Given the description of an element on the screen output the (x, y) to click on. 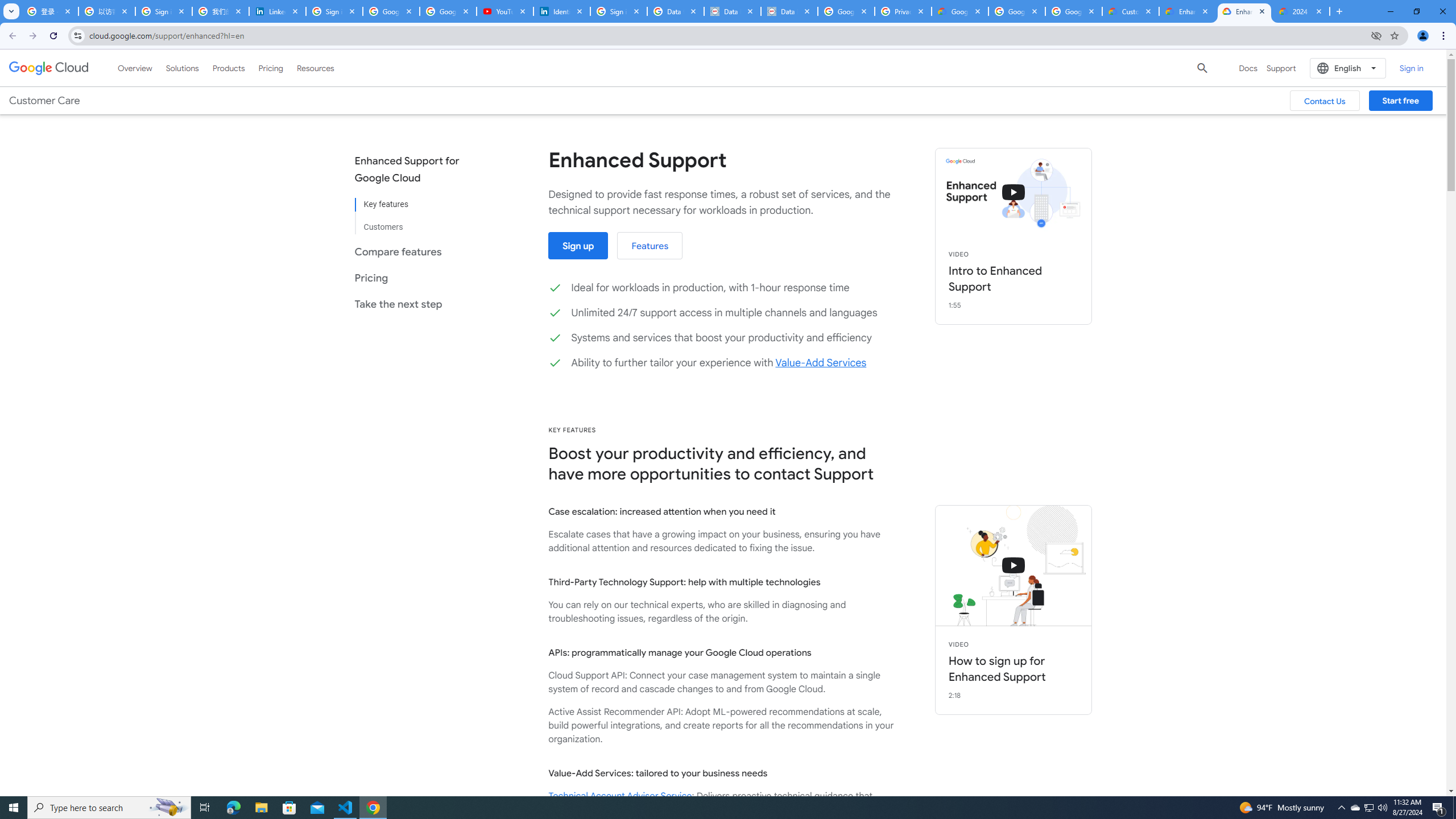
Value-Add Services (820, 362)
Key features (414, 204)
Sign in - Google Accounts (163, 11)
Features (649, 245)
LinkedIn Privacy Policy (277, 11)
Solutions (181, 67)
Technical Account Advisor Service (619, 795)
Google Cloud (48, 67)
Customers (414, 222)
Compare features (414, 251)
